Given the description of an element on the screen output the (x, y) to click on. 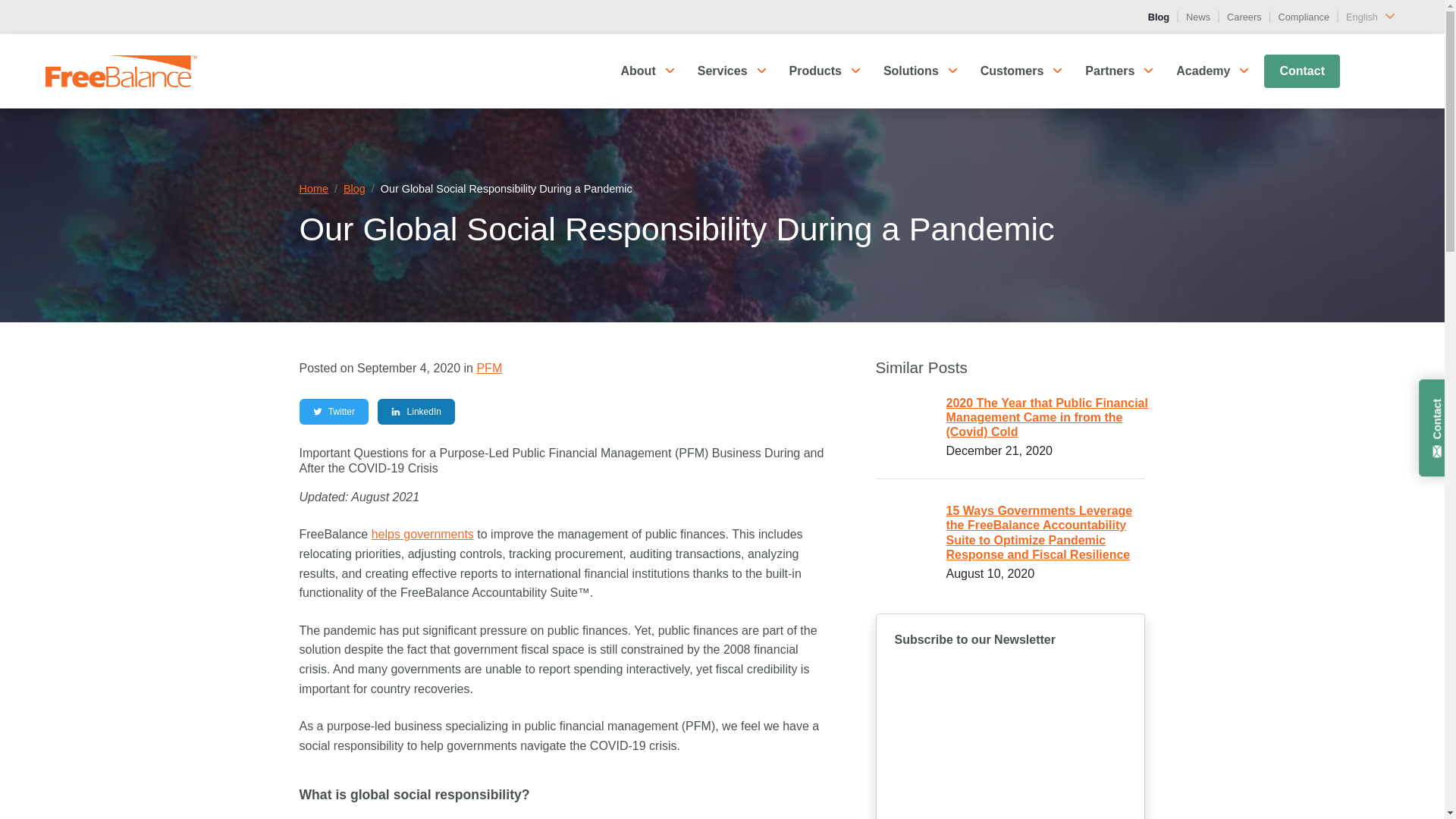
Share on Twitter (333, 411)
Products (815, 70)
Solutions (910, 70)
Services (722, 70)
English (1372, 16)
Careers (1244, 16)
Blog (1158, 16)
Compliance (1304, 16)
Share on LinkedIn (415, 411)
About (637, 70)
